Given the description of an element on the screen output the (x, y) to click on. 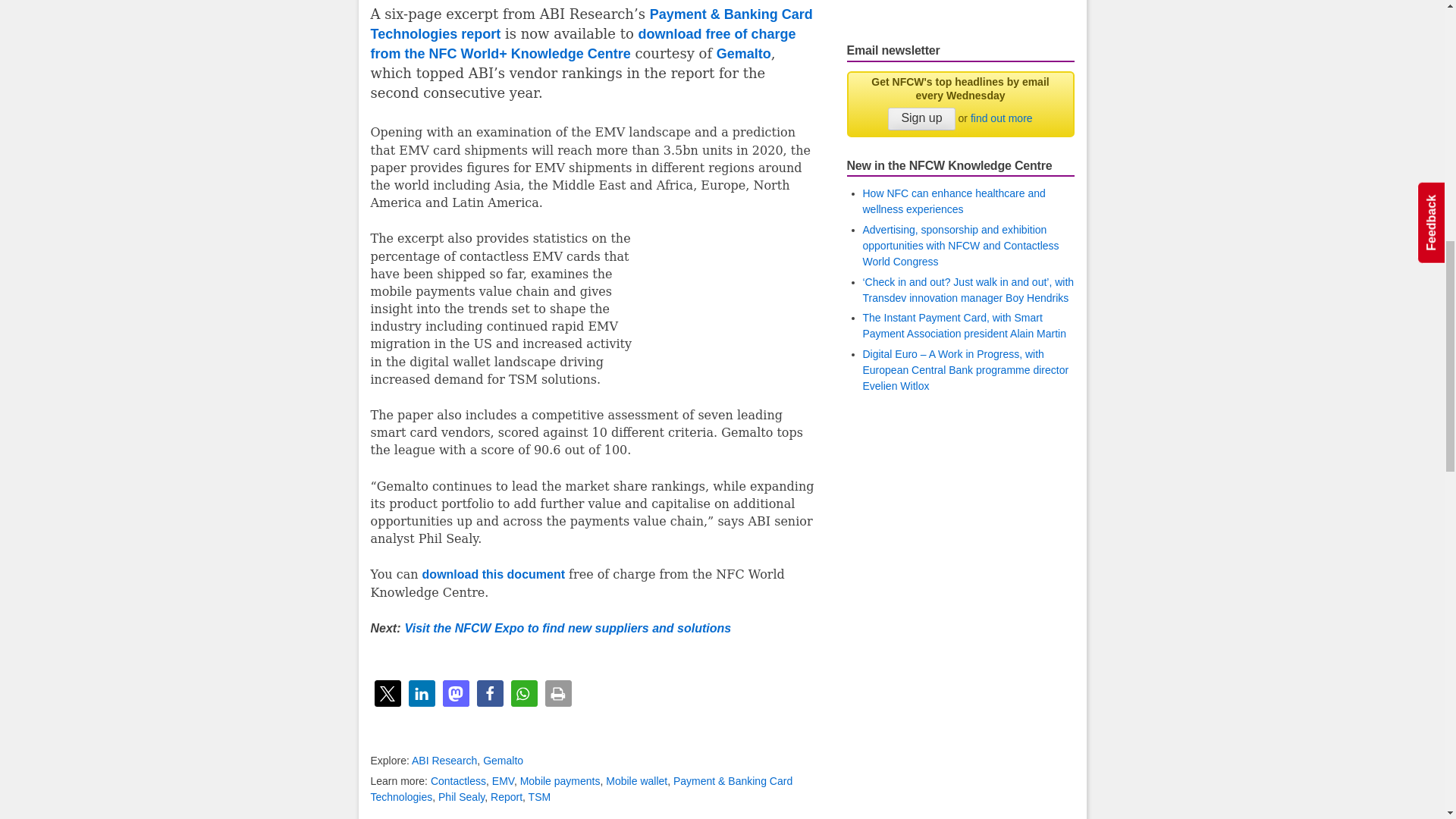
Share on Facebook (489, 693)
Share on Mastodon (455, 693)
228 more items that mention Gemalto (502, 760)
54 more items that mention ABI Research (444, 760)
Share on X (387, 693)
Share on Whatsapp (524, 693)
print (557, 693)
Share on LinkedIn (420, 693)
